Given the description of an element on the screen output the (x, y) to click on. 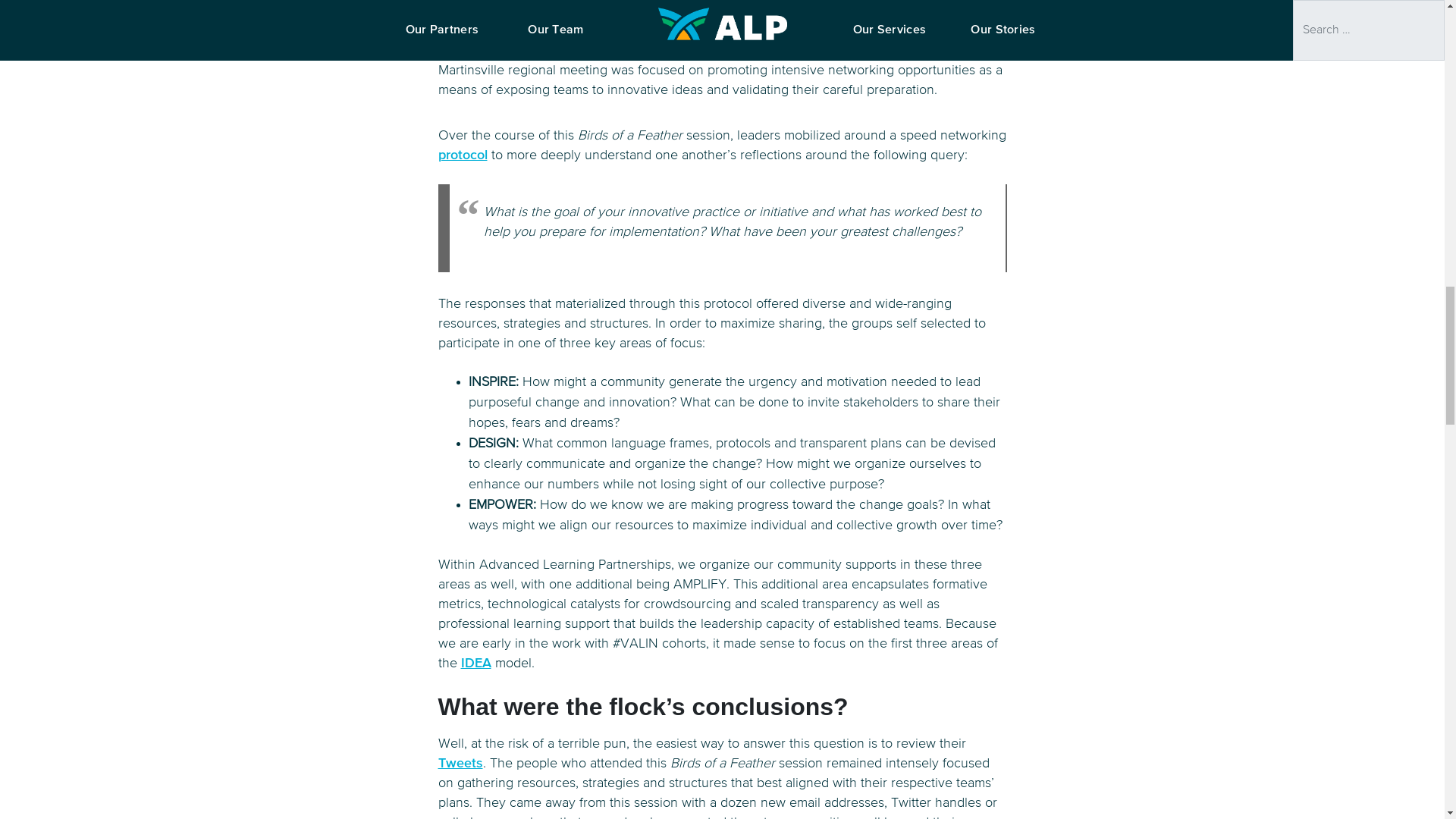
IDEA (476, 663)
protocol (462, 155)
Tweets (460, 763)
